Given the description of an element on the screen output the (x, y) to click on. 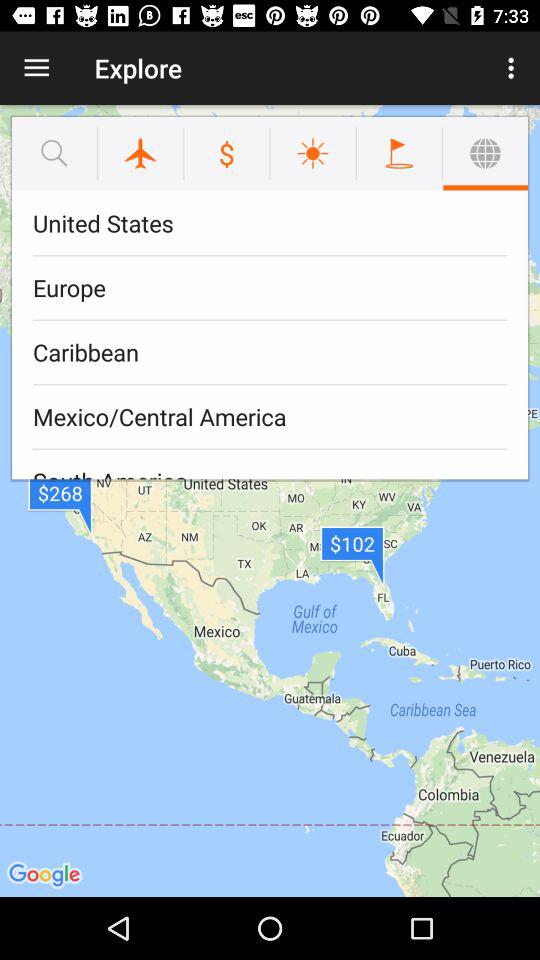
jump to the caribbean (270, 352)
